Given the description of an element on the screen output the (x, y) to click on. 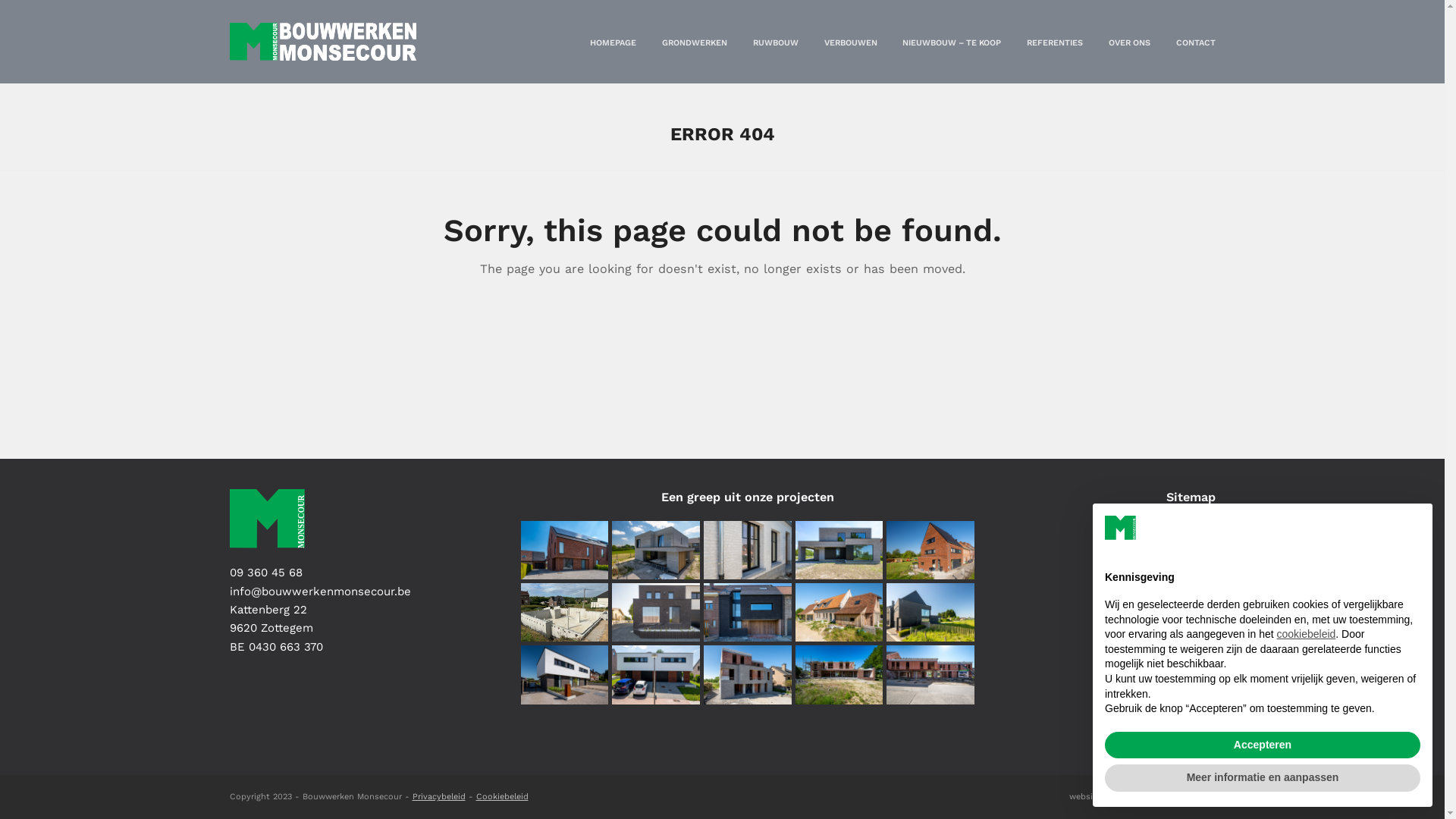
Verbouwen Element type: text (1183, 625)
RUWBOUW Element type: text (775, 41)
HOMEPAGE Element type: text (612, 41)
Nieuwbouw Sint-Maria-Lierde Element type: hover (747, 611)
cookiebeleid Element type: text (1305, 633)
Nieuwbouw Burst Element type: hover (564, 549)
Nieuwbouw Velzeke Element type: hover (839, 549)
Kelderwerken Element type: hover (564, 611)
Grondwerken Element type: text (1177, 565)
09 360 45 68 Element type: text (265, 572)
Nieuwbouw Herzele Element type: hover (655, 549)
info@bouwwerkenmonsecour.be Element type: text (319, 591)
Project Erwetegem Element type: hover (930, 673)
Meer informatie en aanpassen Element type: text (1262, 777)
Nieuwbouw Sint-Maria-Oudenhove Element type: hover (747, 549)
OVER ONS Element type: text (1129, 41)
REFERENTIES Element type: text (1054, 41)
Homepage Element type: text (1186, 535)
Referenties Element type: text (1183, 685)
Nieuwbouw Godveerdegem Element type: hover (839, 673)
Contact Element type: text (1193, 744)
Nieuwbouw Sint-Maria-Oudenhove Element type: hover (839, 611)
VERBOUWEN Element type: text (849, 41)
Over ons Element type: text (1190, 714)
CONTACT Element type: text (1194, 41)
Accepteren Element type: text (1262, 745)
Nieuwbouw Erwetegem Element type: hover (930, 611)
Nieuwbouw Erwetegem Element type: hover (655, 673)
Project Zottegem Element type: hover (564, 673)
GRONDWERKEN Element type: text (694, 41)
Privacybeleid Element type: text (438, 796)
Appartementen Zottegem Element type: hover (747, 673)
Cookiebeleid Element type: text (502, 796)
bretel.website Element type: text (1186, 796)
Nieuwbouw Erwetegem Element type: hover (930, 549)
Project Sint-Maria-Oudenhove Element type: hover (655, 611)
Ruwbouw Element type: text (1187, 595)
